Given the description of an element on the screen output the (x, y) to click on. 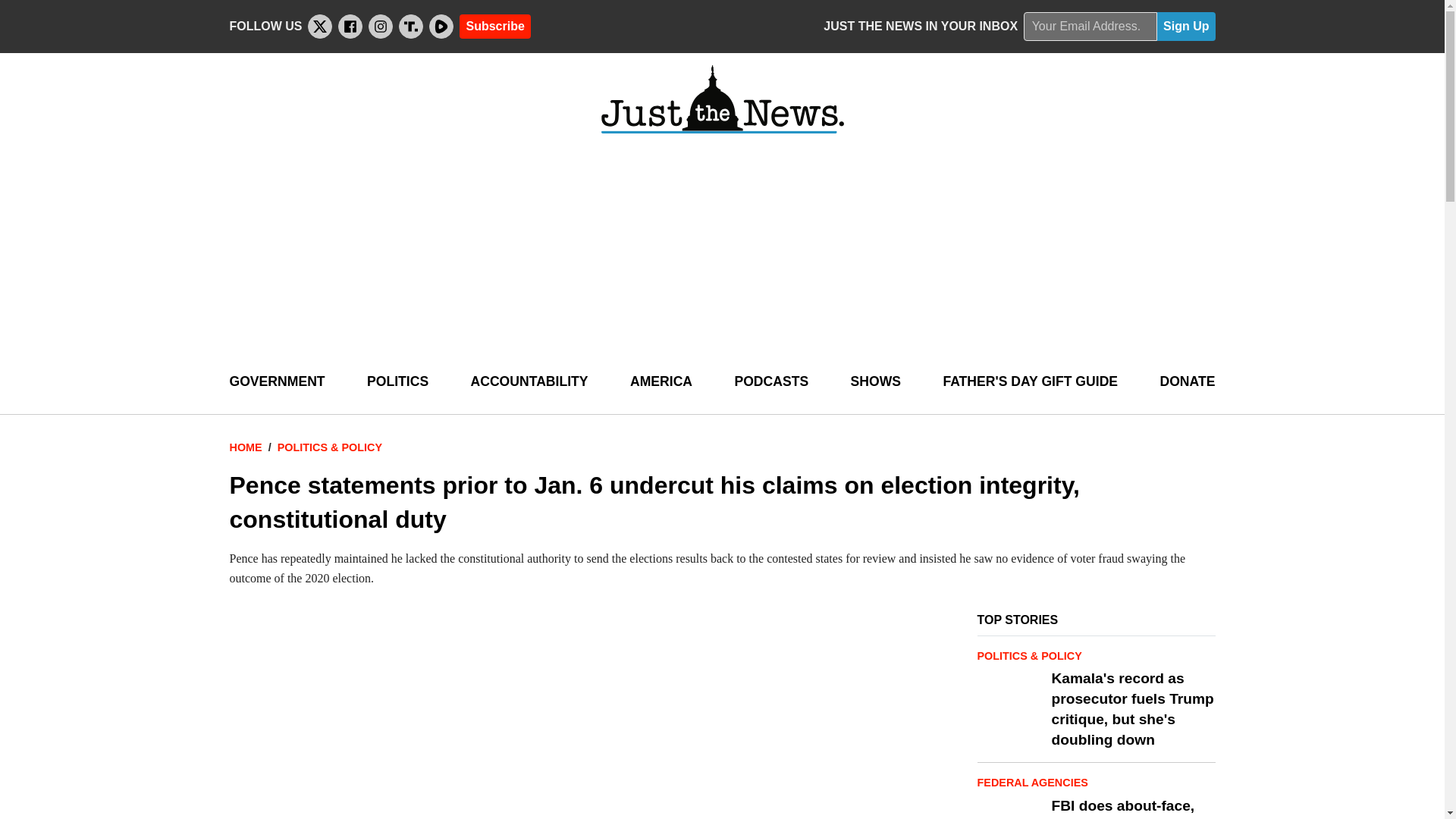
POLITICS (397, 381)
GOVERNMENT (276, 381)
SHOWS (875, 381)
Sign Up (1185, 26)
FATHER'S DAY GIFT GUIDE (1030, 381)
DONATE (1186, 381)
AMERICA (661, 381)
PODCASTS (770, 381)
Sign Up (1185, 26)
Subscribe (494, 26)
ACCOUNTABILITY (529, 381)
